Given the description of an element on the screen output the (x, y) to click on. 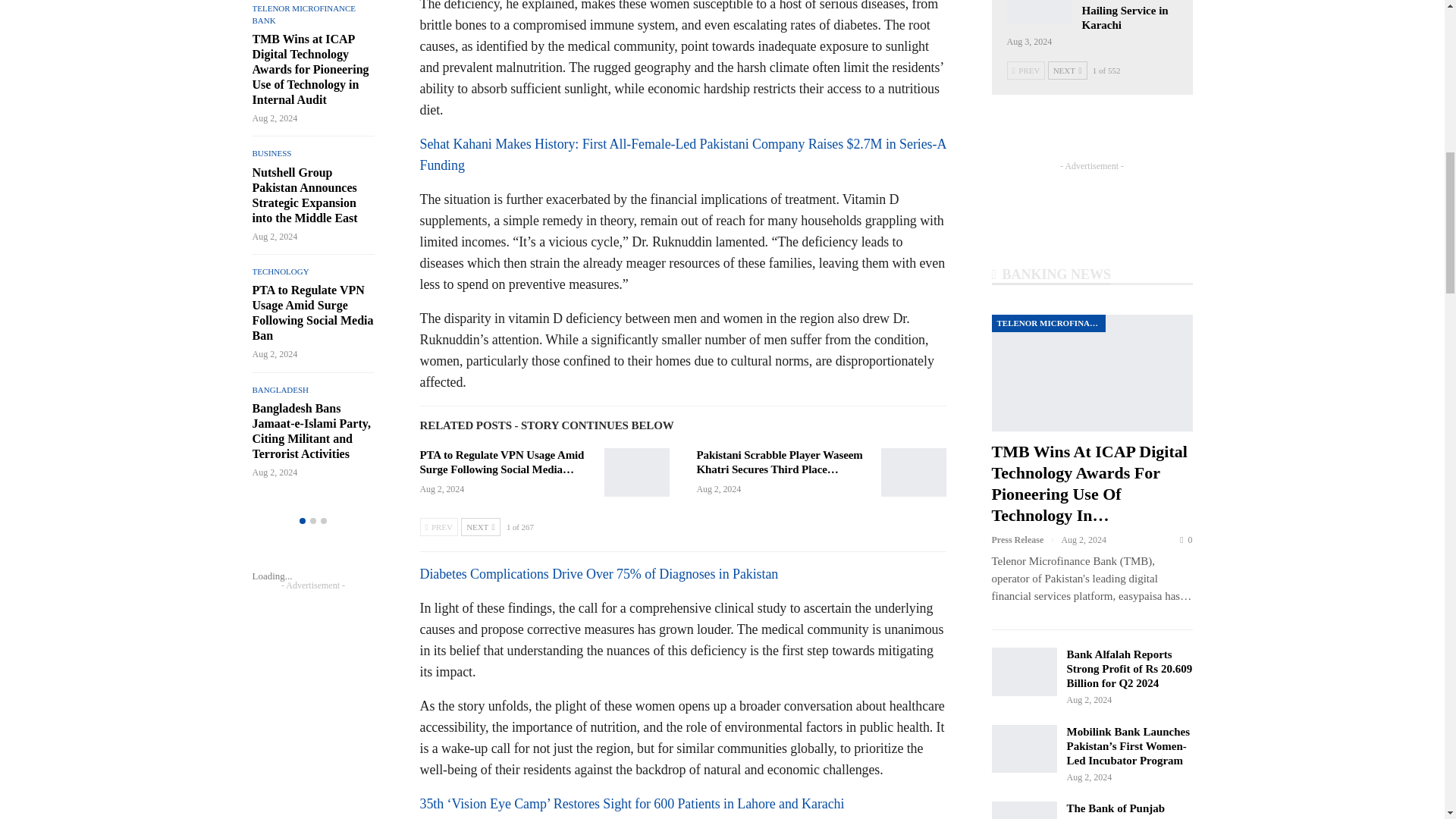
Previous (439, 526)
Next (480, 526)
